Given the description of an element on the screen output the (x, y) to click on. 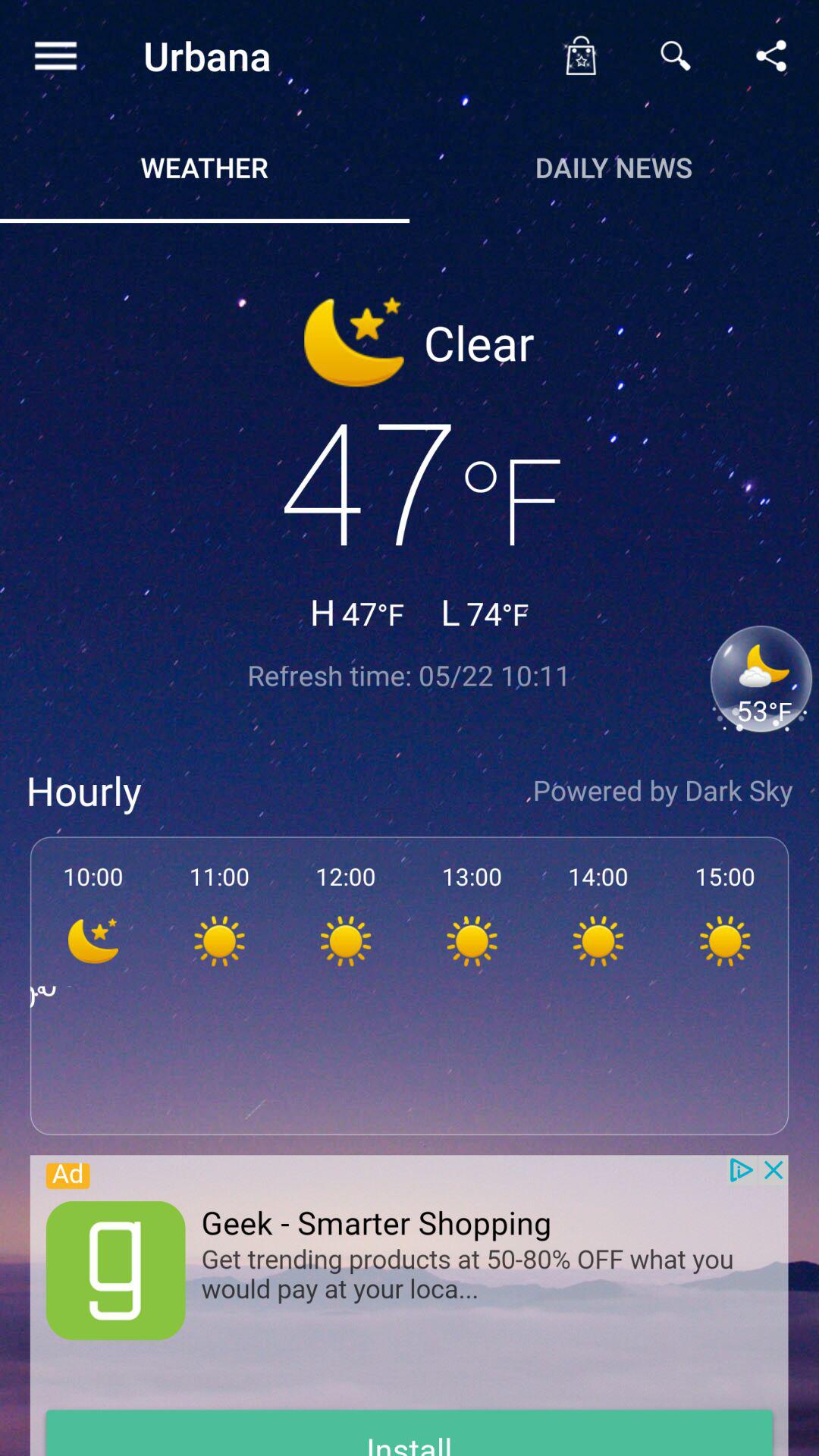
cart icon (579, 55)
